Given the description of an element on the screen output the (x, y) to click on. 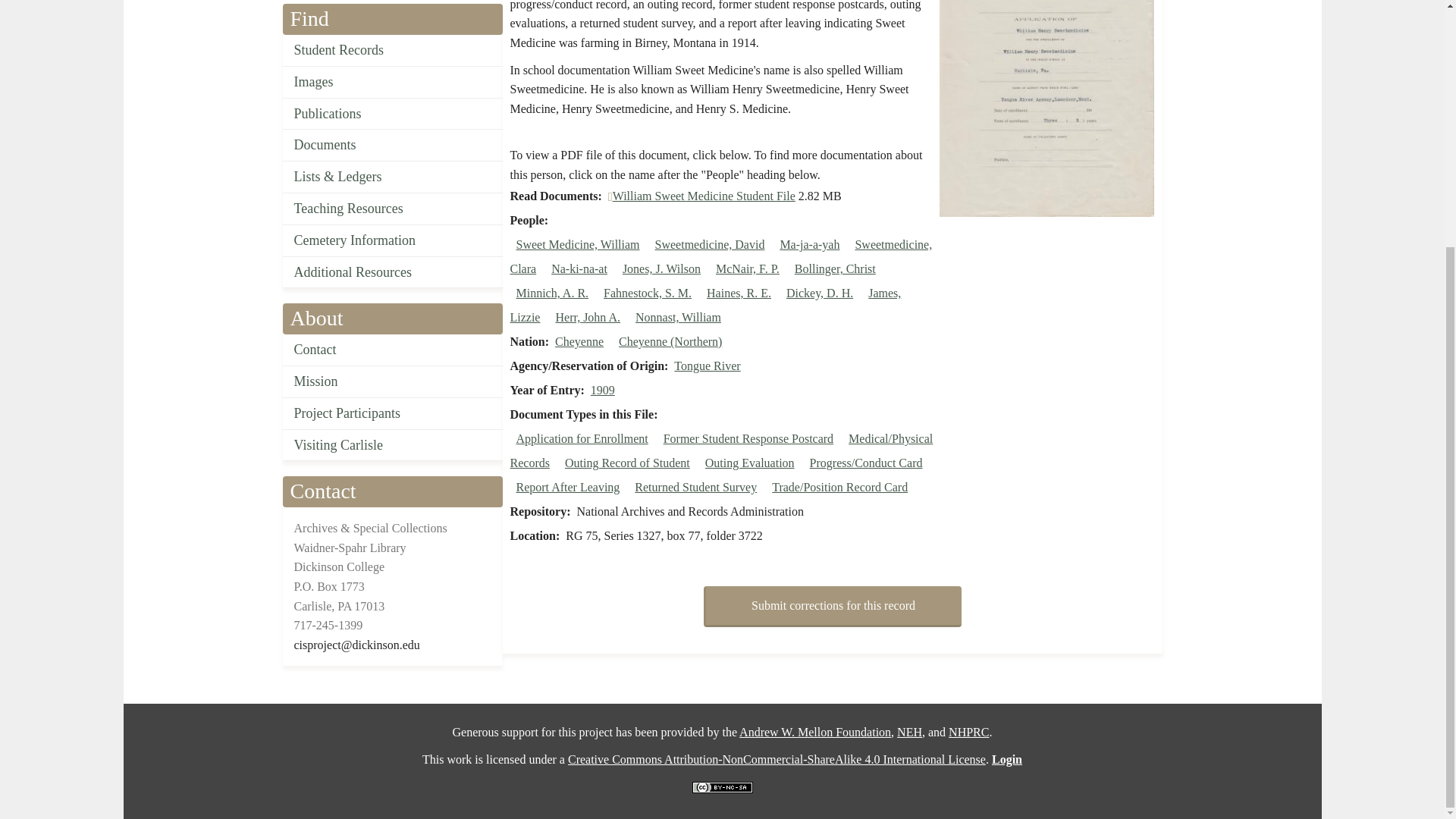
Fahnestock, S. M. (647, 292)
James, Lizzie (705, 304)
Cemetery Information (392, 241)
Student Records (392, 50)
Tongue River (706, 365)
Haines, R. E. (738, 292)
Sweetmedicine, David (710, 244)
Sweet Medicine, William (577, 244)
Mission (392, 382)
Images (392, 82)
Teaching Resources (392, 209)
Dickey, D. H. (819, 292)
Ma-ja-a-yah (809, 244)
Contact (392, 350)
Minnich, A. R. (551, 292)
